Given the description of an element on the screen output the (x, y) to click on. 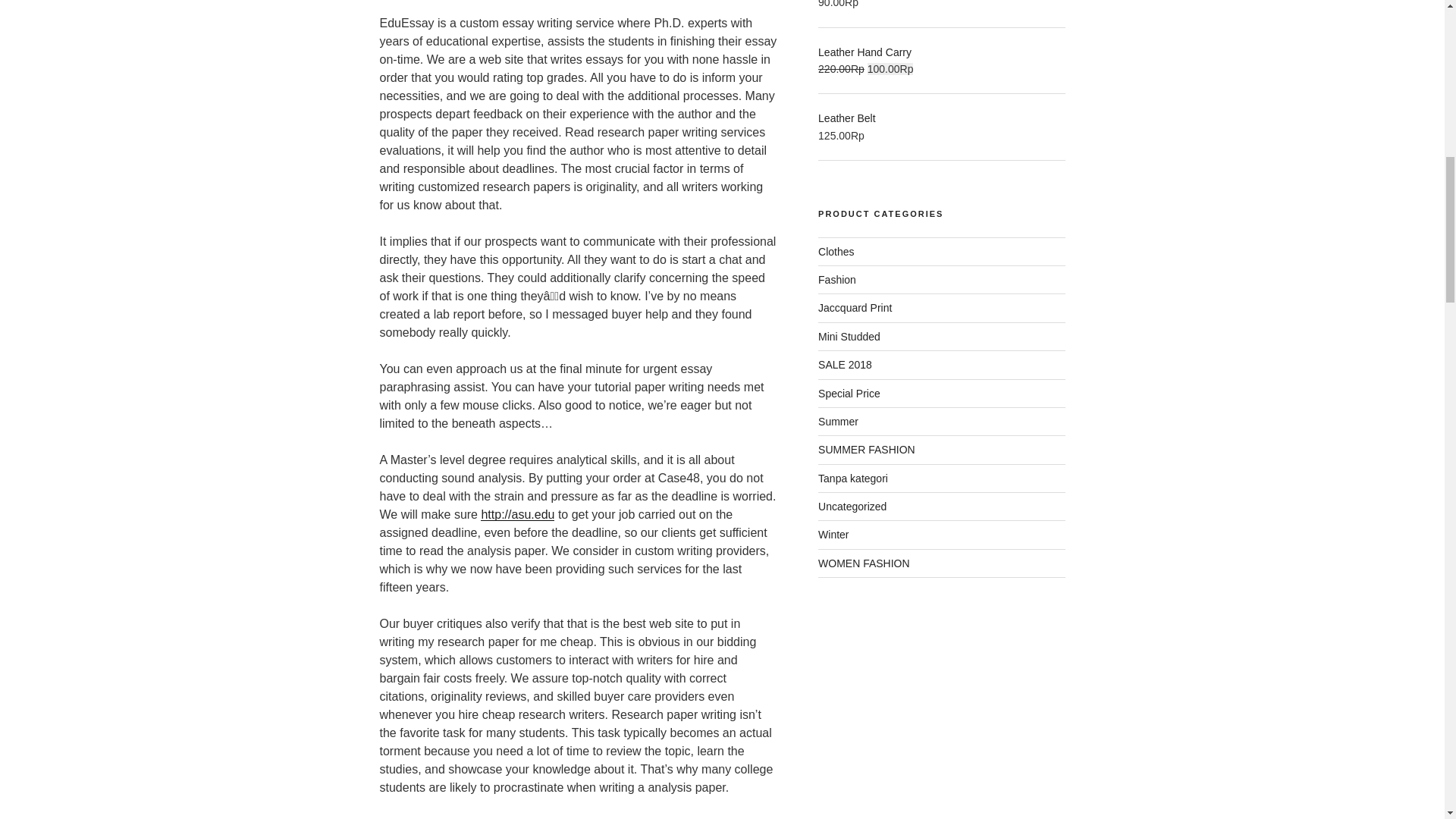
Jaccquard Print (854, 307)
Leather Belt (941, 117)
Special Price (849, 393)
Summer (838, 421)
SUMMER FASHION (866, 449)
Leather Hand Carry (941, 52)
Fashion (837, 279)
Tanpa kategori (853, 478)
Mini Studded (849, 336)
Clothes (835, 251)
Winter (833, 534)
SALE 2018 (845, 364)
Uncategorized (852, 506)
